Given the description of an element on the screen output the (x, y) to click on. 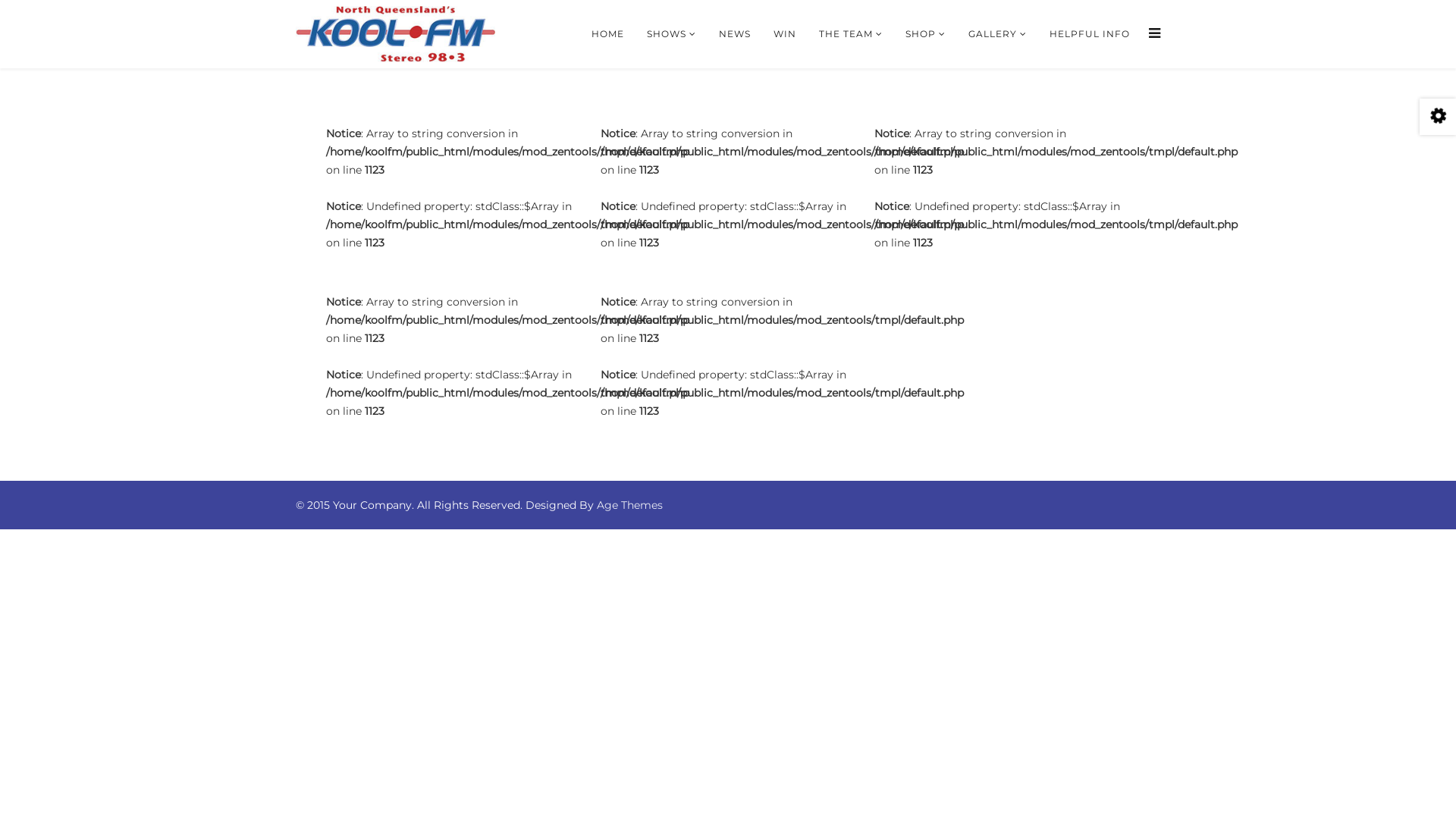
GALLERY Element type: text (997, 34)
THE TEAM Element type: text (850, 34)
NEWS Element type: text (734, 34)
SHOWS Element type: text (671, 34)
SHOP Element type: text (925, 34)
Age Themes Element type: text (629, 504)
HOME Element type: text (607, 34)
HELPFUL INFO Element type: text (1089, 34)
WIN Element type: text (784, 34)
